Given the description of an element on the screen output the (x, y) to click on. 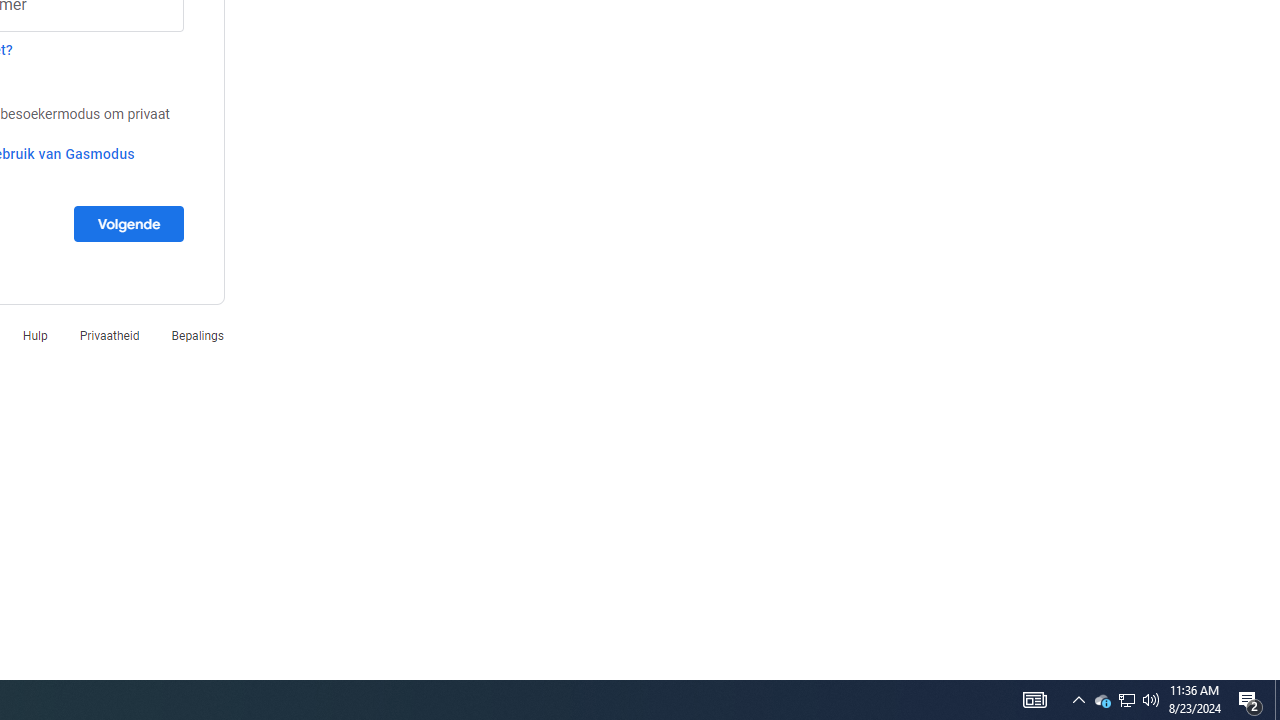
Privaatheid (109, 335)
User Promoted Notification Area (1126, 699)
Volgende (128, 223)
Bepalings (197, 335)
Notification Chevron (1078, 699)
Show desktop (1277, 699)
Hulp (35, 335)
AutomationID: 4105 (1102, 699)
Action Center, 2 new notifications (1034, 699)
Q2790: 100% (1250, 699)
